Given the description of an element on the screen output the (x, y) to click on. 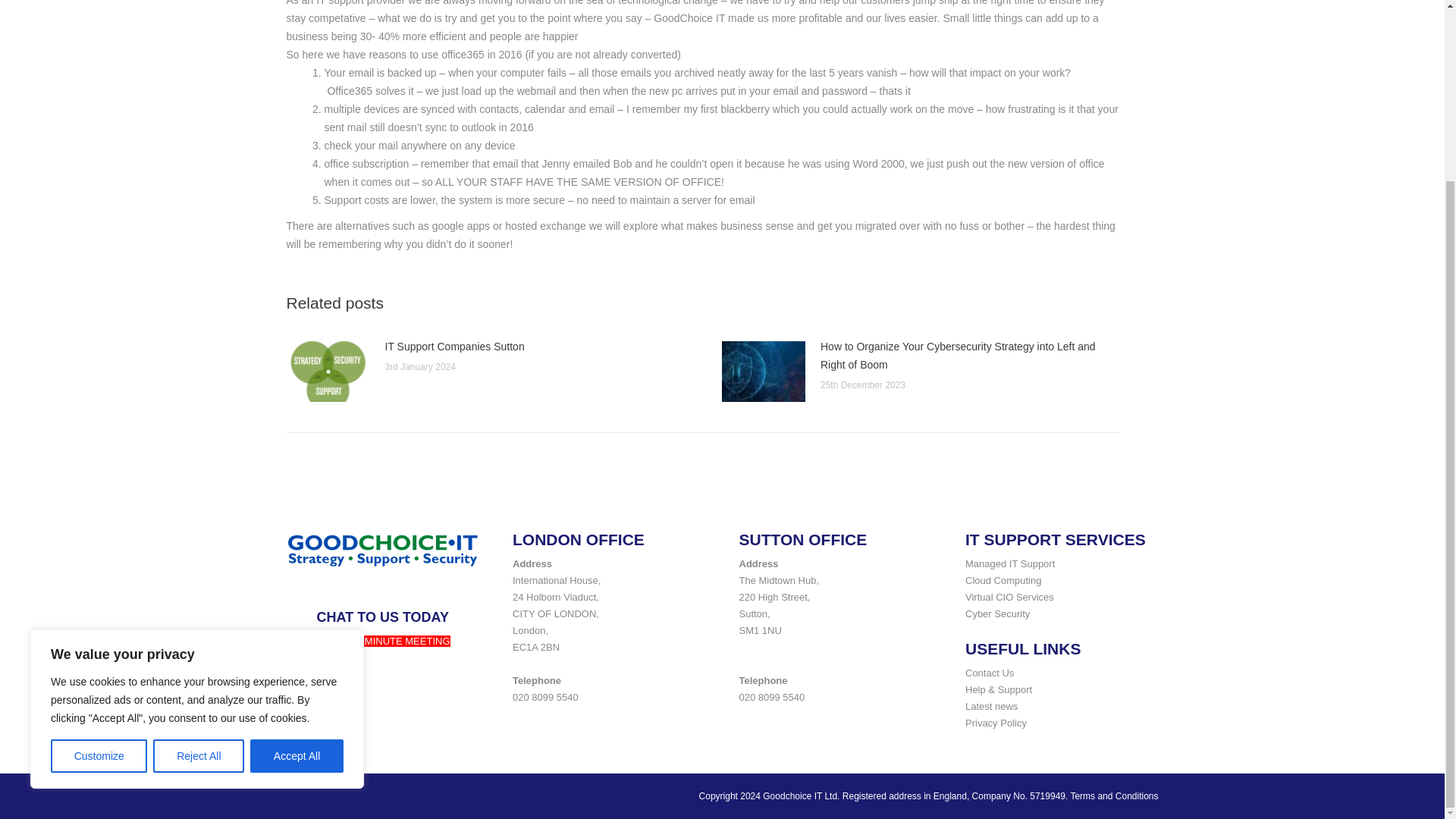
Reject All (198, 533)
Accept All (296, 533)
Customize (98, 533)
